Given the description of an element on the screen output the (x, y) to click on. 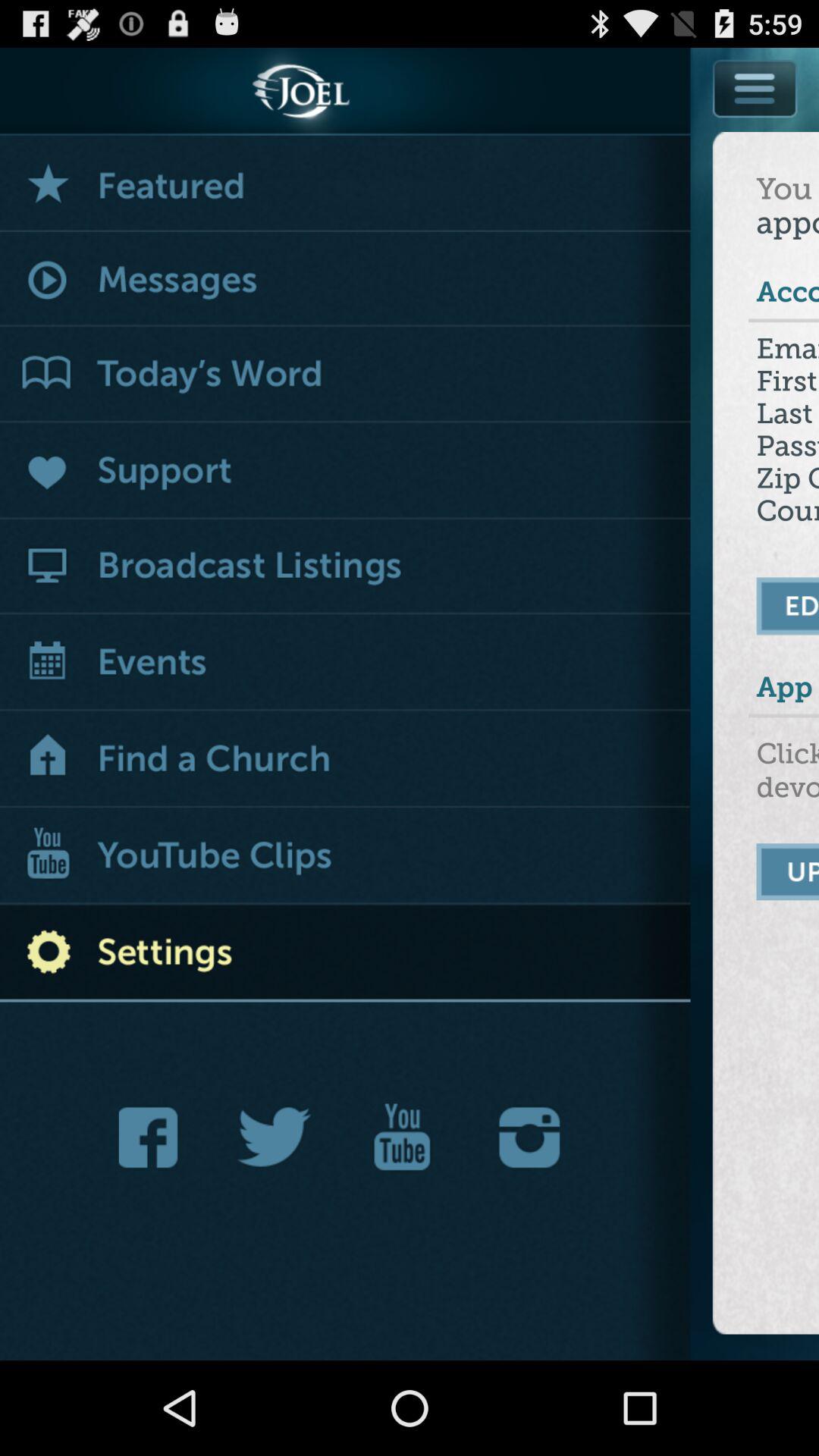
choose today 's word the current text is perfect already (345, 375)
